Given the description of an element on the screen output the (x, y) to click on. 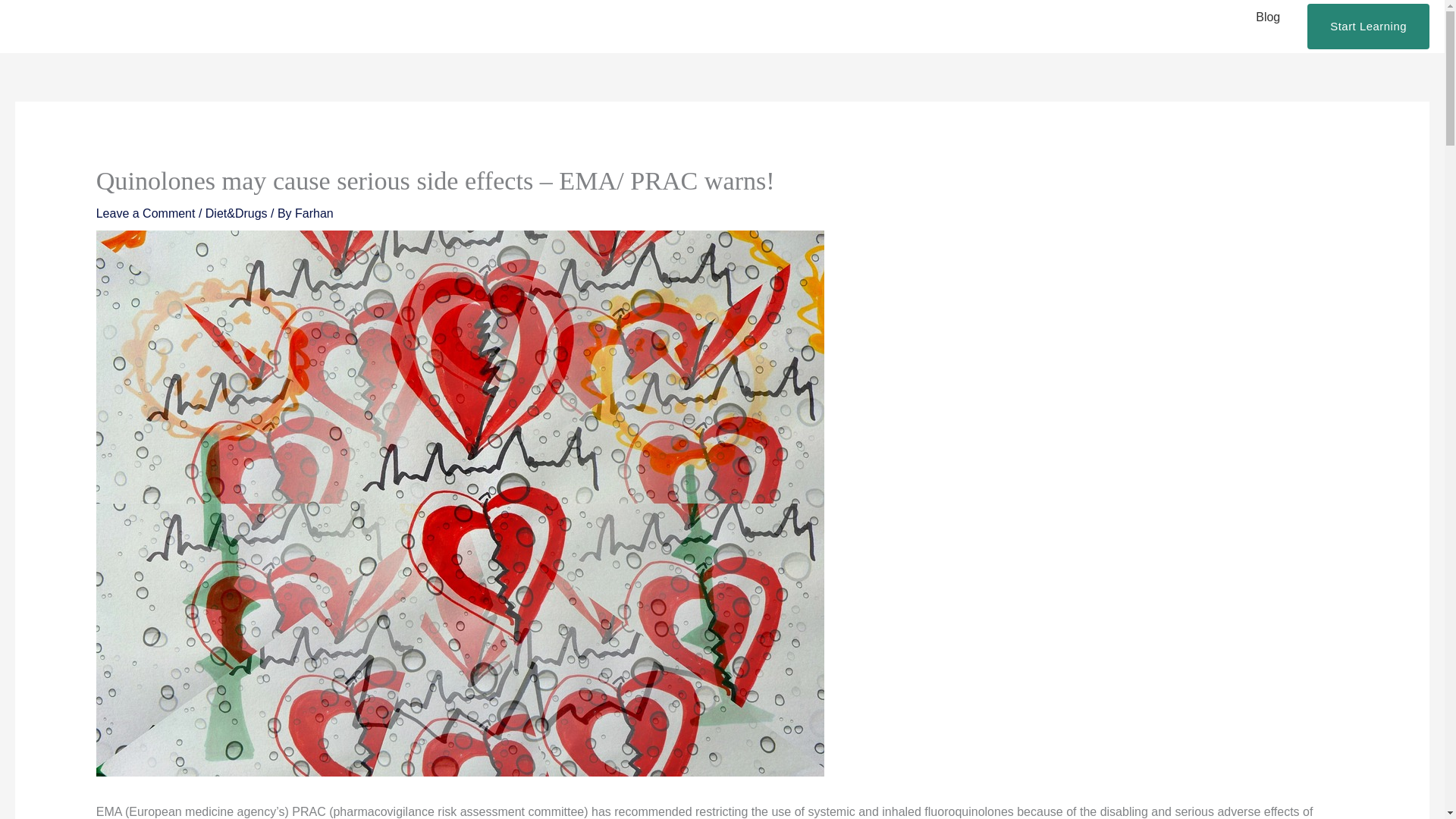
Leave a Comment (145, 213)
Blog (1267, 16)
View all posts by Farhan (314, 213)
Farhan (314, 213)
Start Learning (1368, 26)
